Given the description of an element on the screen output the (x, y) to click on. 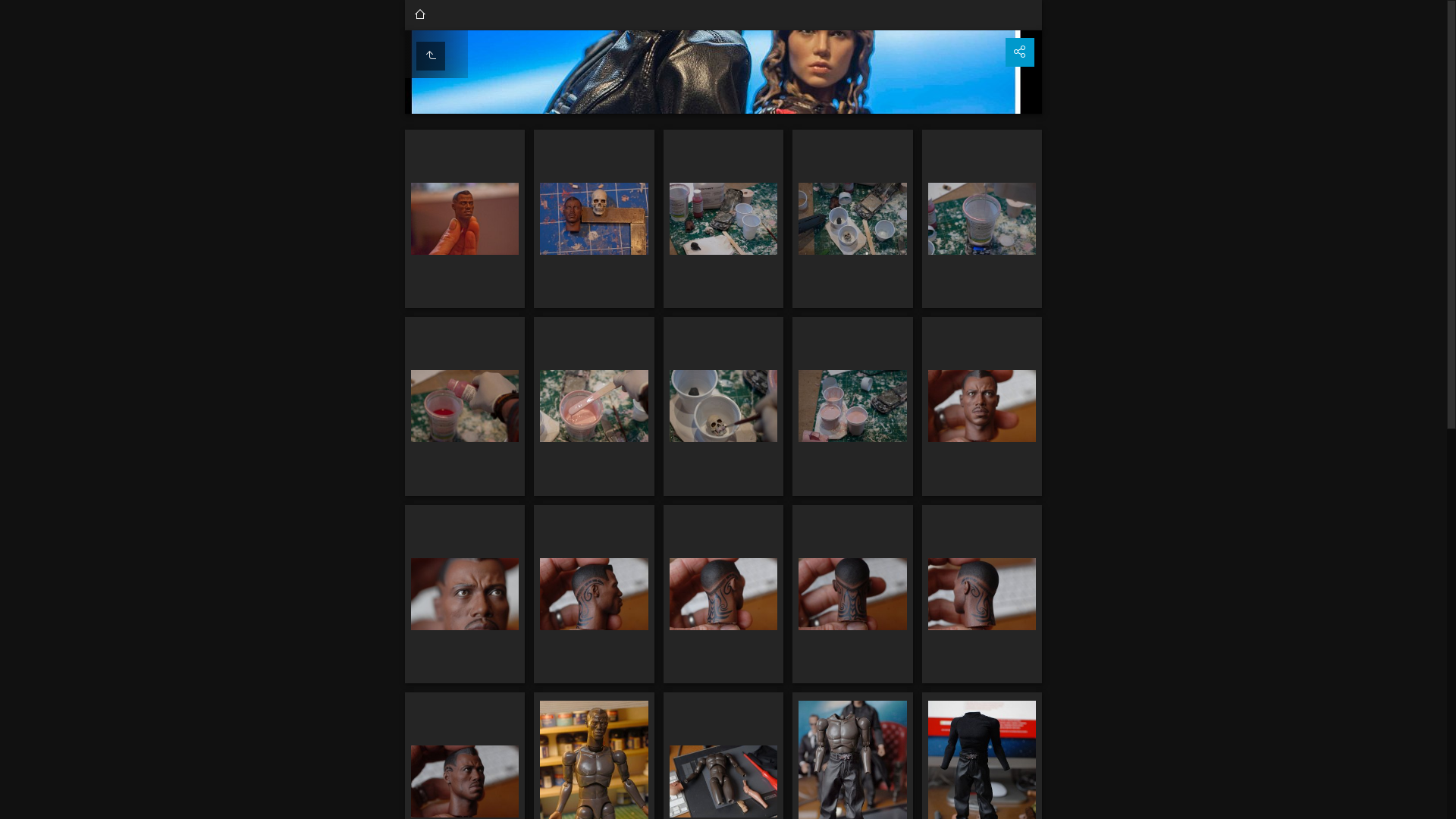
Main album page Element type: hover (419, 15)
Up one level Element type: hover (430, 55)
Share album Element type: hover (1019, 51)
